Given the description of an element on the screen output the (x, y) to click on. 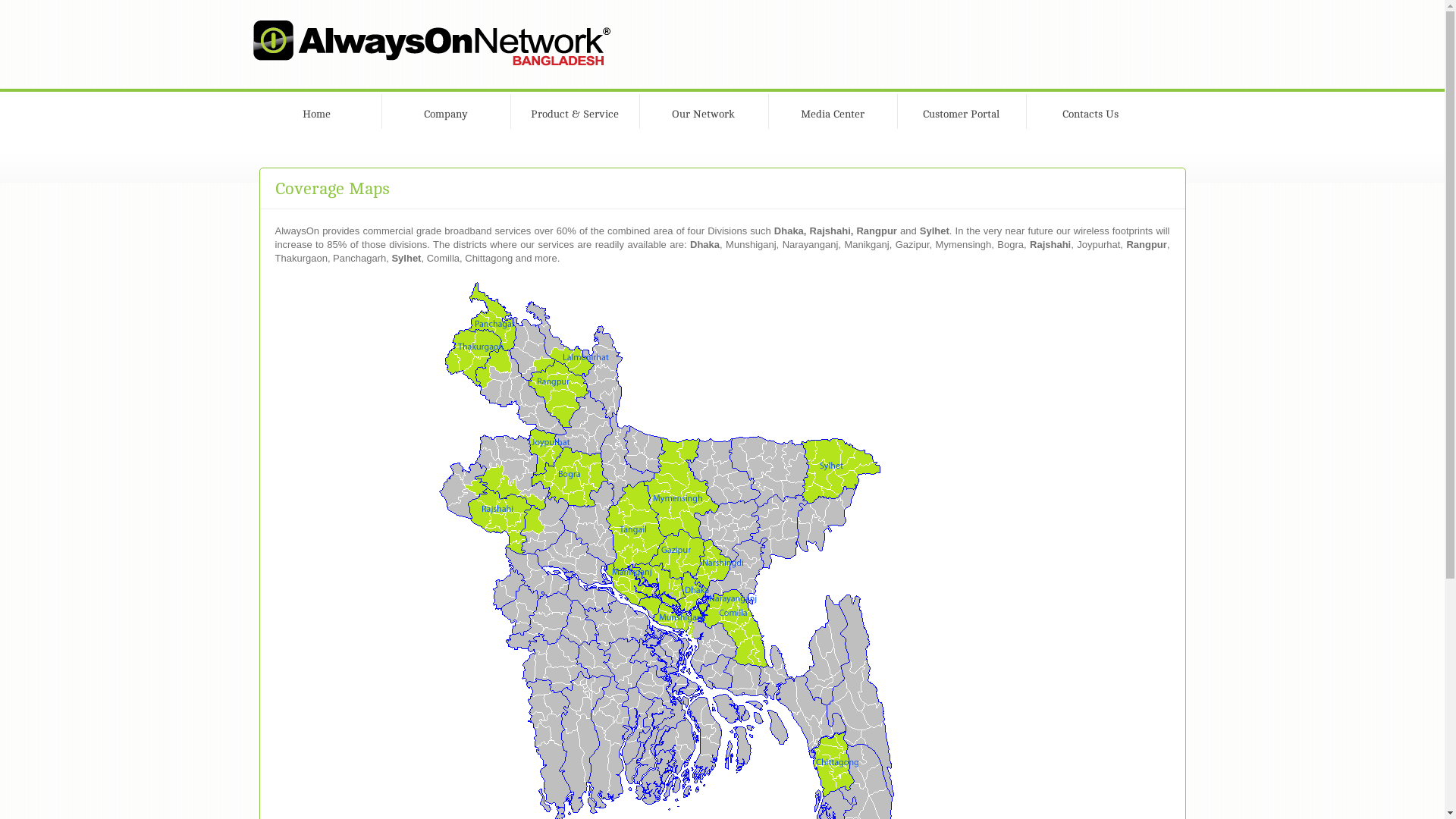
Media Center Element type: text (831, 111)
Product & Service Element type: text (573, 111)
Our Network Element type: text (702, 111)
Customer Portal Element type: text (960, 111)
Contacts Us Element type: text (1089, 111)
Home Element type: text (315, 111)
Company Element type: text (444, 111)
